Given the description of an element on the screen output the (x, y) to click on. 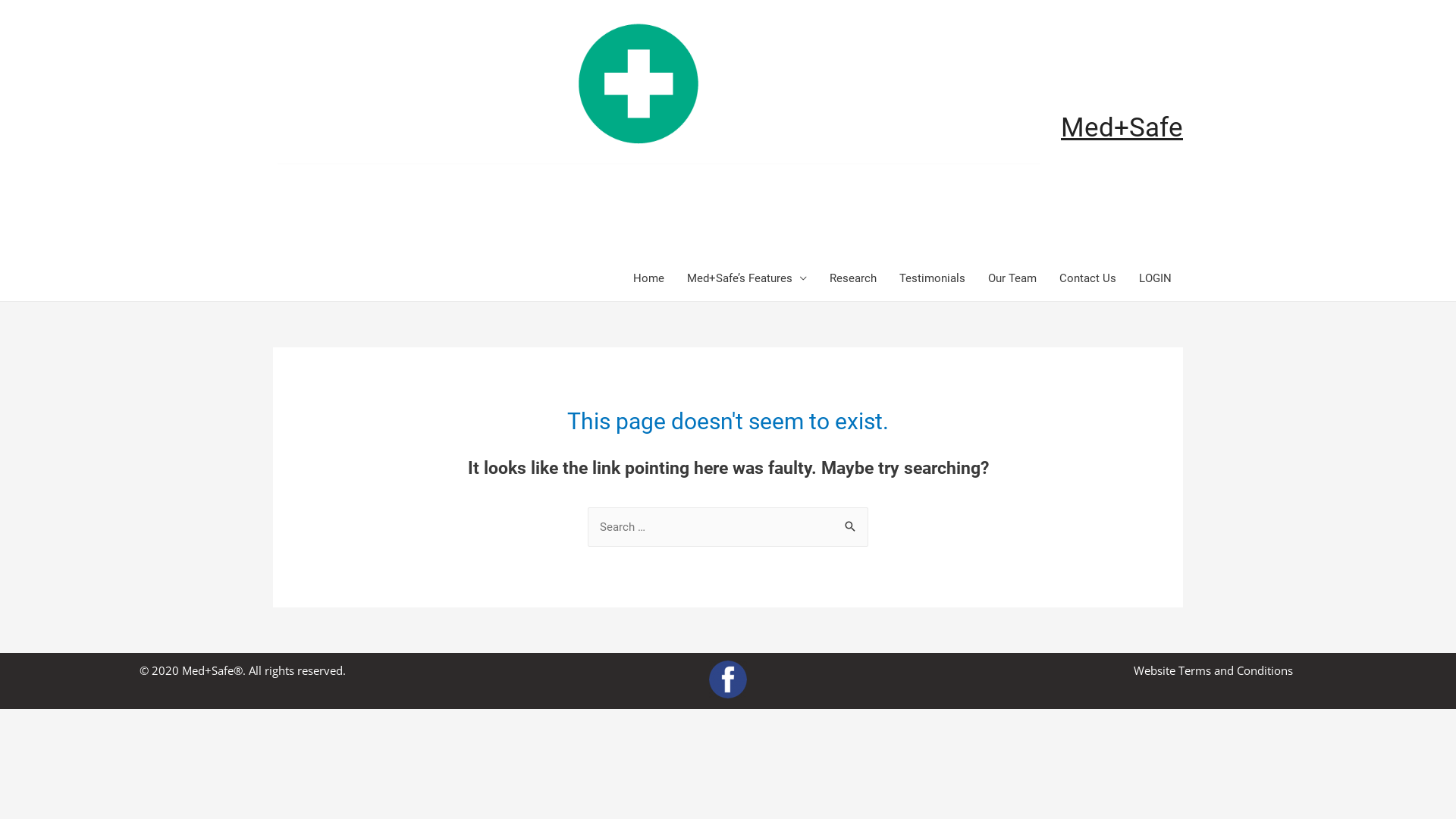
Med+Safe Element type: text (1121, 127)
Search Element type: text (851, 522)
Home Element type: text (648, 278)
LOGIN Element type: text (1155, 278)
Website Terms and Conditions Element type: text (1212, 669)
FaceBook Element type: hover (727, 679)
Our Team Element type: text (1012, 278)
Contact Us Element type: text (1087, 278)
Testimonials Element type: text (932, 278)
Research Element type: text (853, 278)
